Given the description of an element on the screen output the (x, y) to click on. 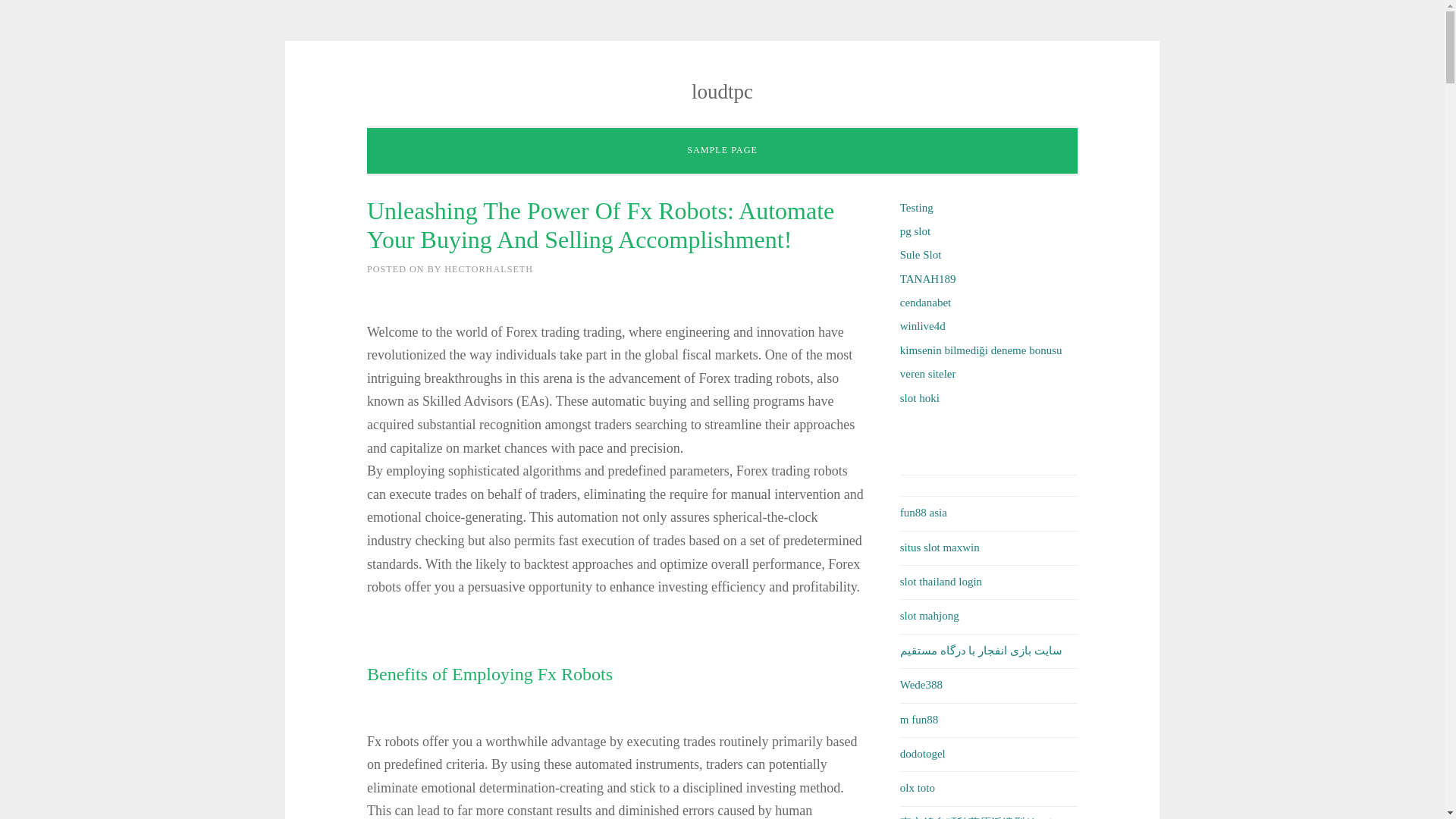
situs slot maxwin (939, 547)
slot thailand login (940, 581)
loudtpc (721, 91)
m fun88 (918, 718)
winlive4d (921, 326)
Wede388 (920, 684)
loudtpc (721, 91)
dodotogel (921, 753)
olx toto (916, 787)
fun88 asia (923, 512)
